Given the description of an element on the screen output the (x, y) to click on. 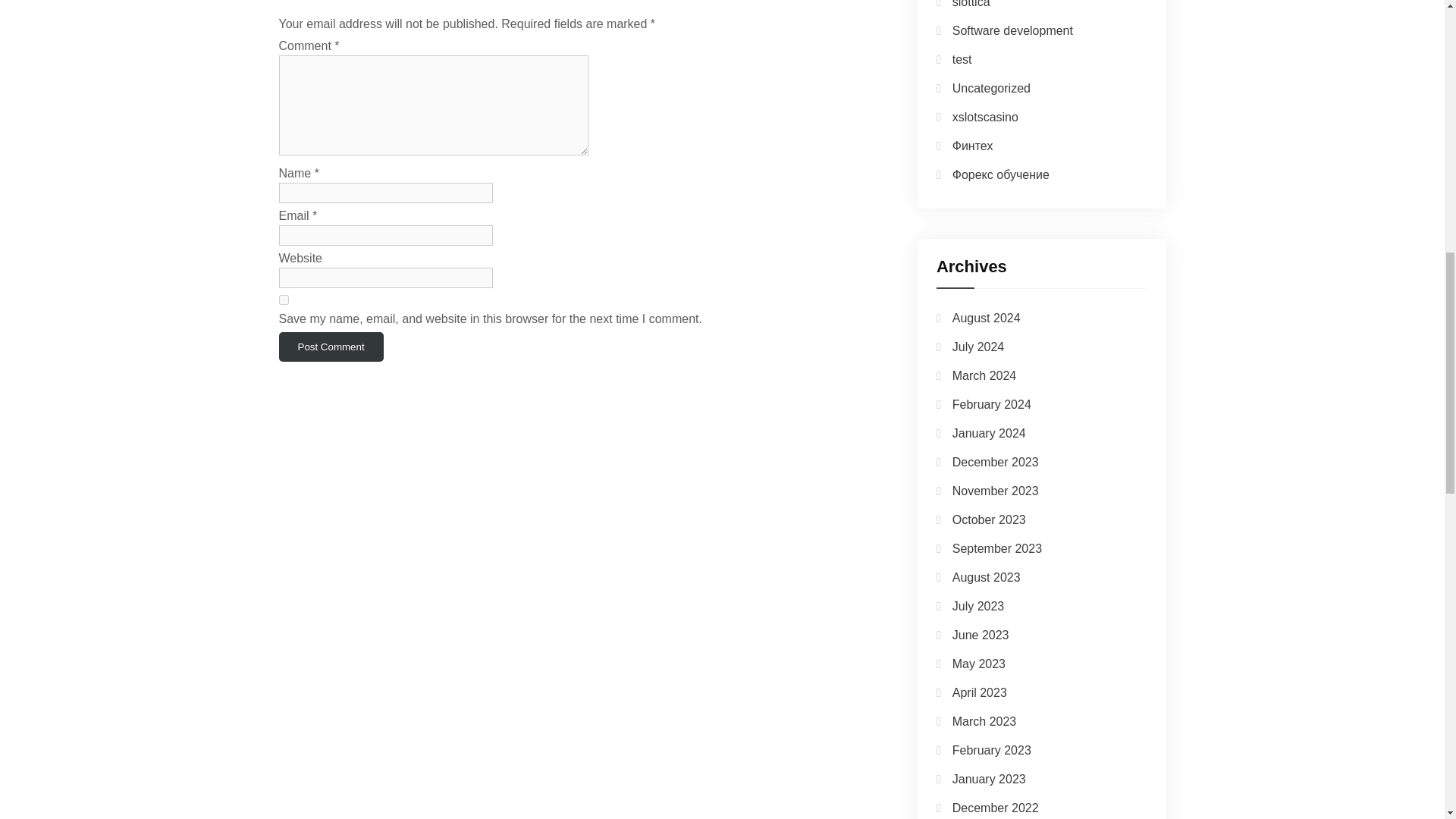
test (962, 59)
slottica (971, 4)
Uncategorized (991, 88)
Post Comment (331, 346)
xslotscasino (984, 116)
Software development (1012, 30)
Post Comment (331, 346)
yes (283, 299)
August 2024 (986, 318)
